Given the description of an element on the screen output the (x, y) to click on. 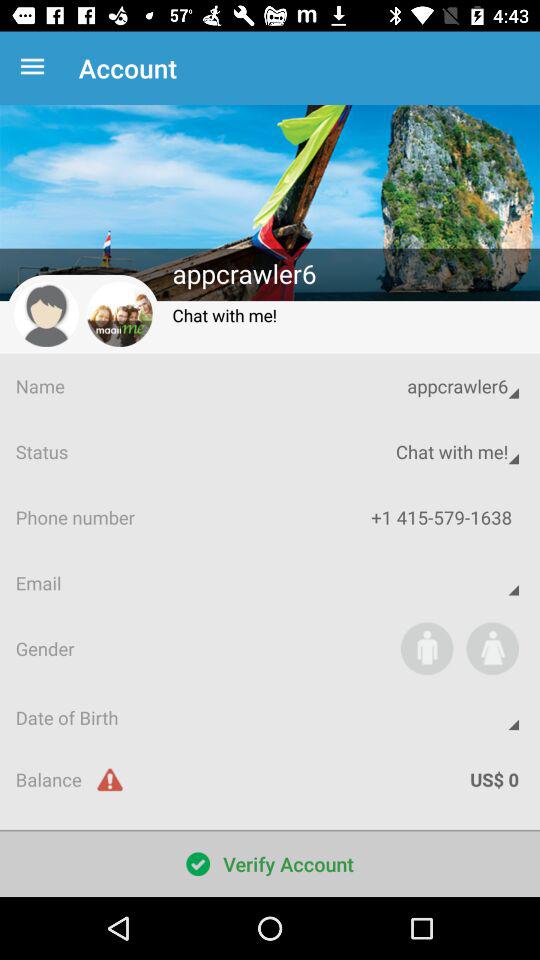
male symbol (426, 648)
